Given the description of an element on the screen output the (x, y) to click on. 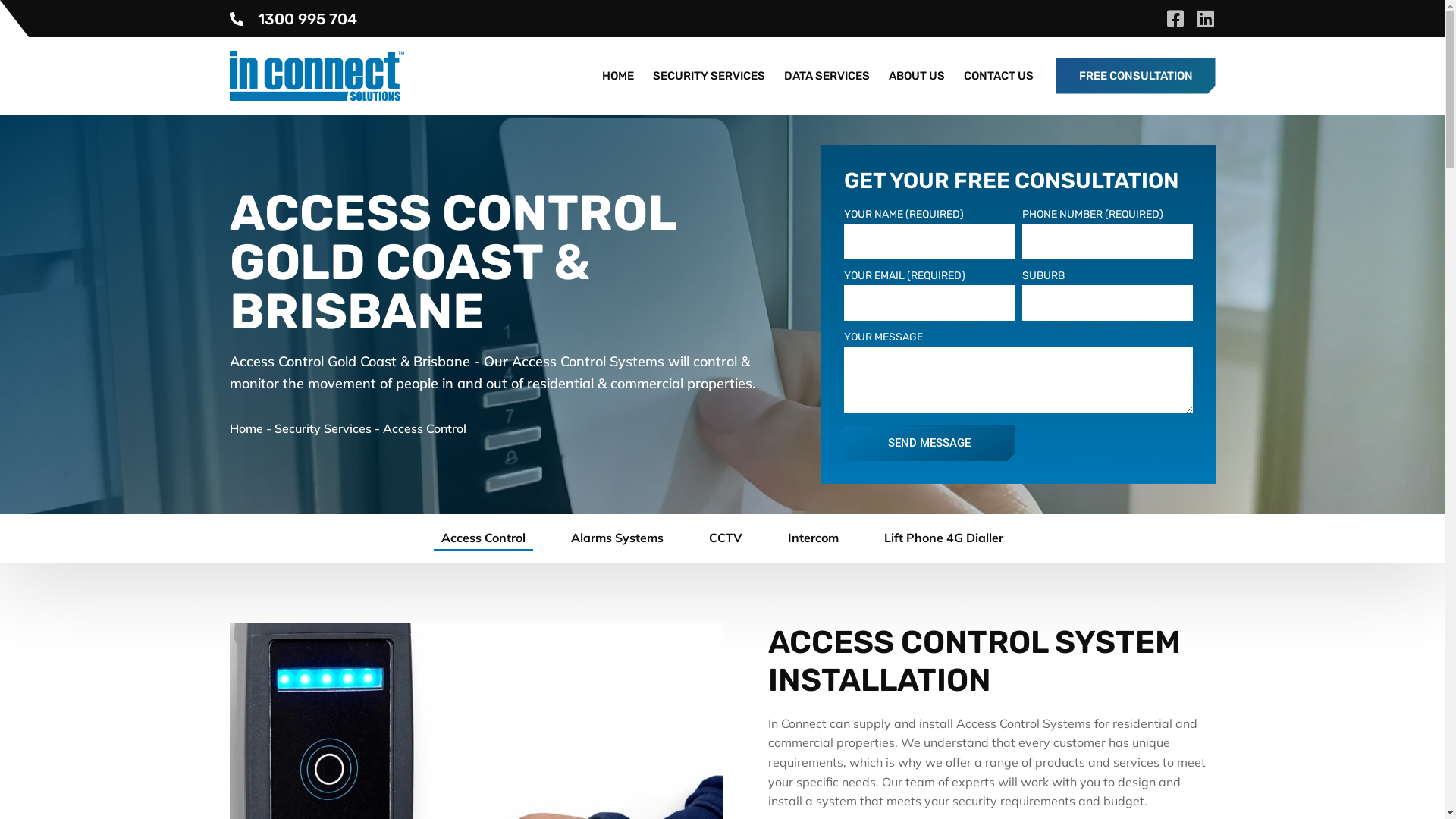
inconnect-logo Element type: hover (316, 75)
ABOUT US Element type: text (916, 75)
Access Control Element type: text (483, 538)
CONTACT US Element type: text (997, 75)
DATA SERVICES Element type: text (826, 75)
1300 995 704 Element type: text (293, 17)
HOME Element type: text (617, 75)
SECURITY SERVICES Element type: text (708, 75)
Lift Phone 4G Dialler Element type: text (943, 538)
FREE CONSULTATION Element type: text (1134, 75)
Intercom Element type: text (813, 538)
Alarms Systems Element type: text (617, 538)
CCTV Element type: text (725, 538)
SEND MESSAGE Element type: text (928, 443)
Security Services Element type: text (322, 428)
Home Element type: text (245, 428)
